Given the description of an element on the screen output the (x, y) to click on. 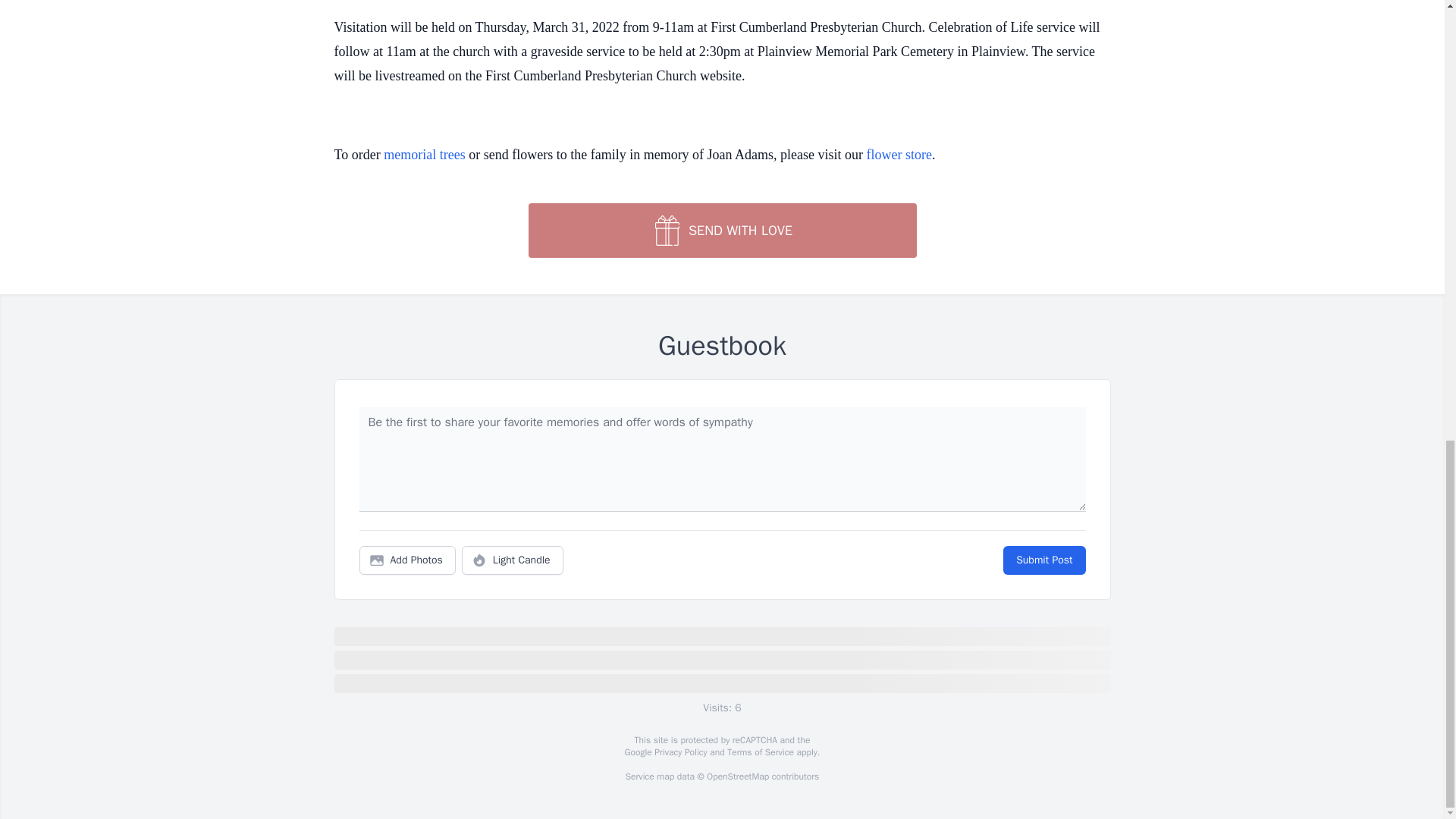
Terms of Service (759, 752)
Light Candle (512, 560)
Submit Post (1043, 560)
Add Photos (407, 560)
flower store (898, 154)
SEND WITH LOVE (721, 230)
memorial trees (424, 154)
OpenStreetMap (737, 776)
Privacy Policy (679, 752)
